Given the description of an element on the screen output the (x, y) to click on. 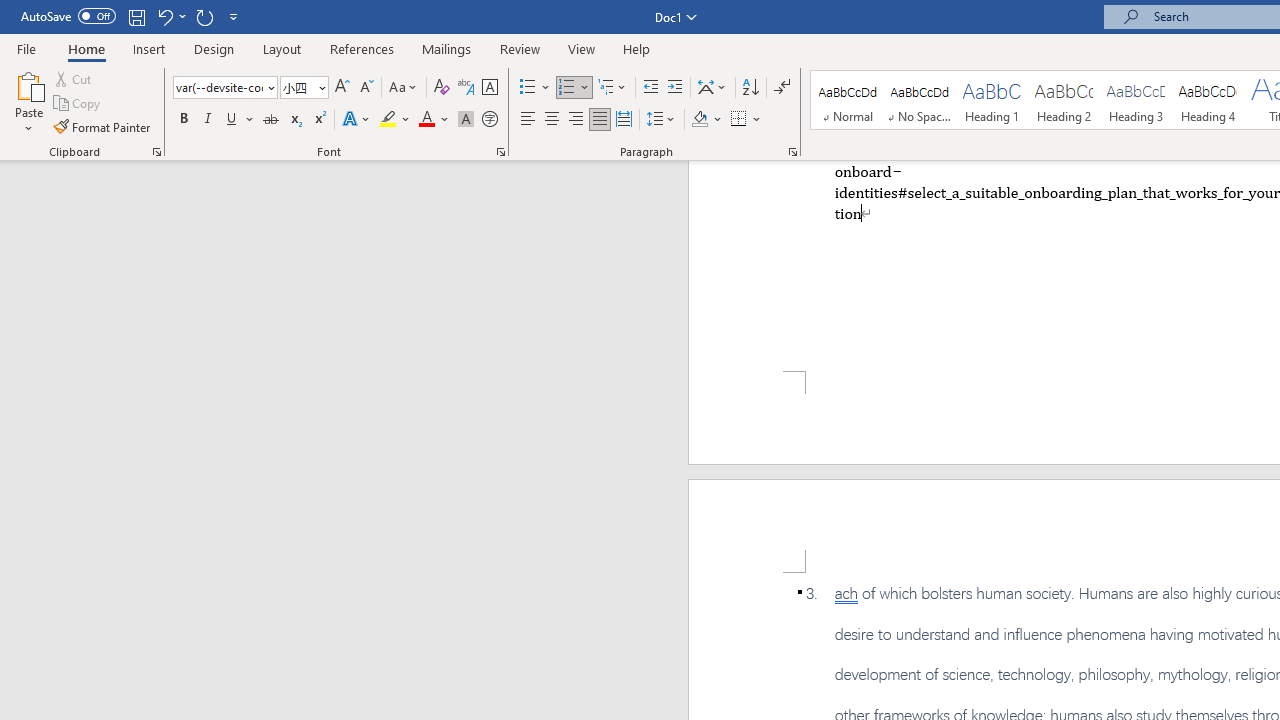
Repeat Style (204, 15)
Undo Apply Quick Style (170, 15)
Heading 4 (1208, 100)
Heading 3 (1135, 100)
